Given the description of an element on the screen output the (x, y) to click on. 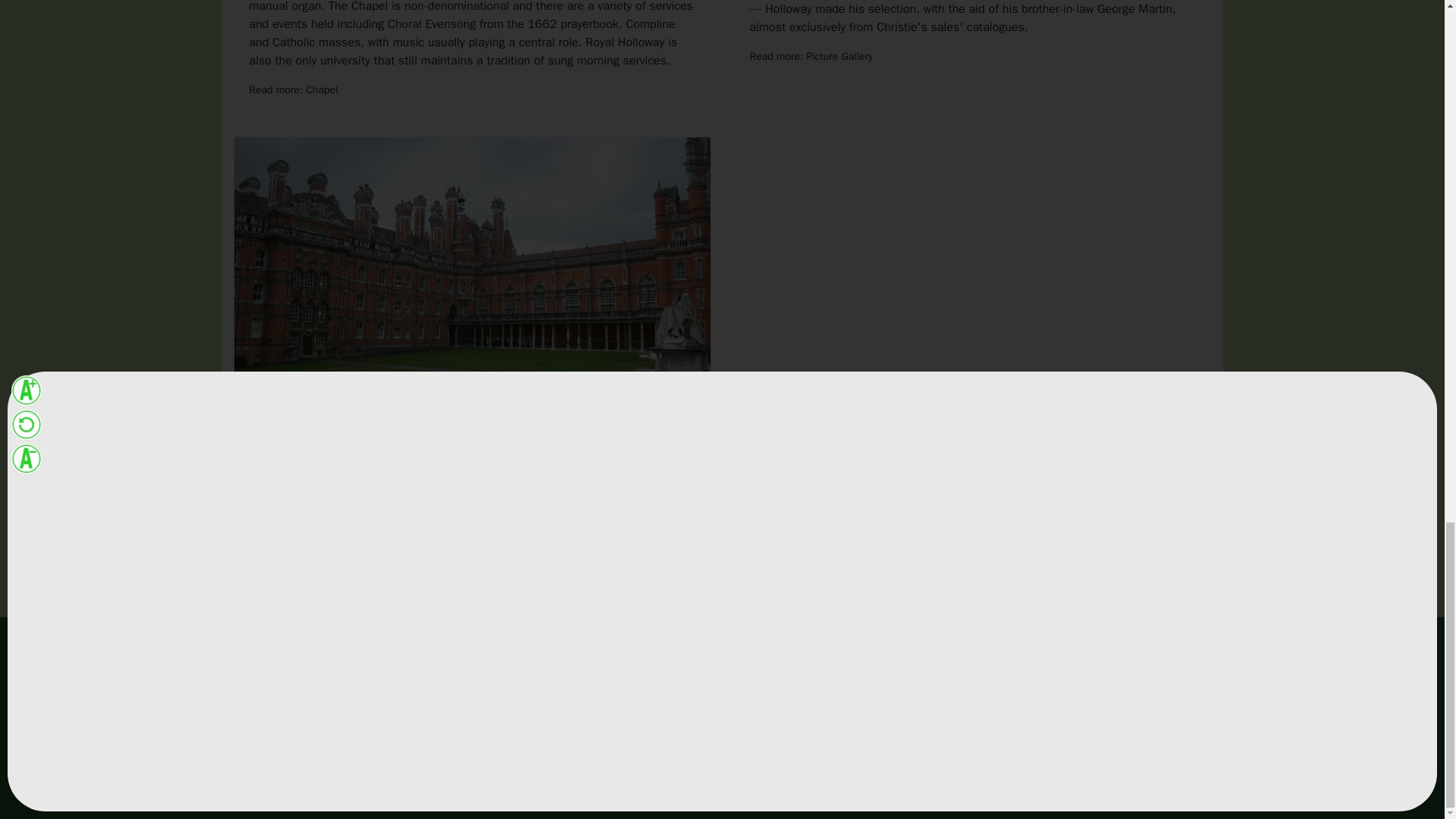
Quads and Statues (471, 451)
Read more: Picture Gallery (810, 56)
Read more: Chapel (292, 89)
Terms and Conditions (784, 680)
Category: Founders Building (377, 484)
Privacy (749, 736)
Copyright (754, 707)
Founders Building (386, 483)
